Given the description of an element on the screen output the (x, y) to click on. 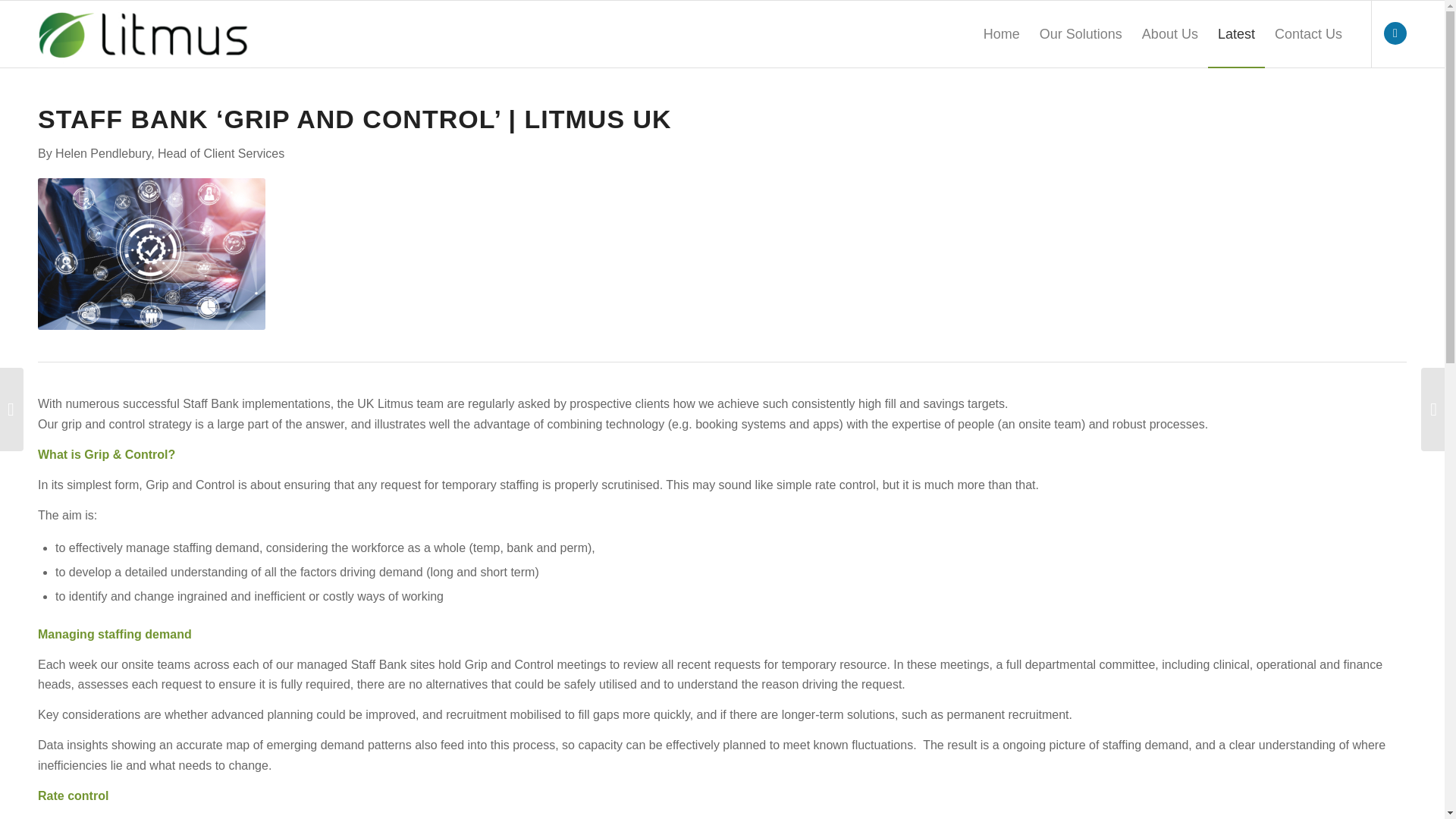
Contact Us (1308, 33)
Our Solutions (1080, 33)
LinkedIn (1395, 33)
QA Quality Assurance and Quality Control Concept (150, 254)
About Us (1170, 33)
